Given the description of an element on the screen output the (x, y) to click on. 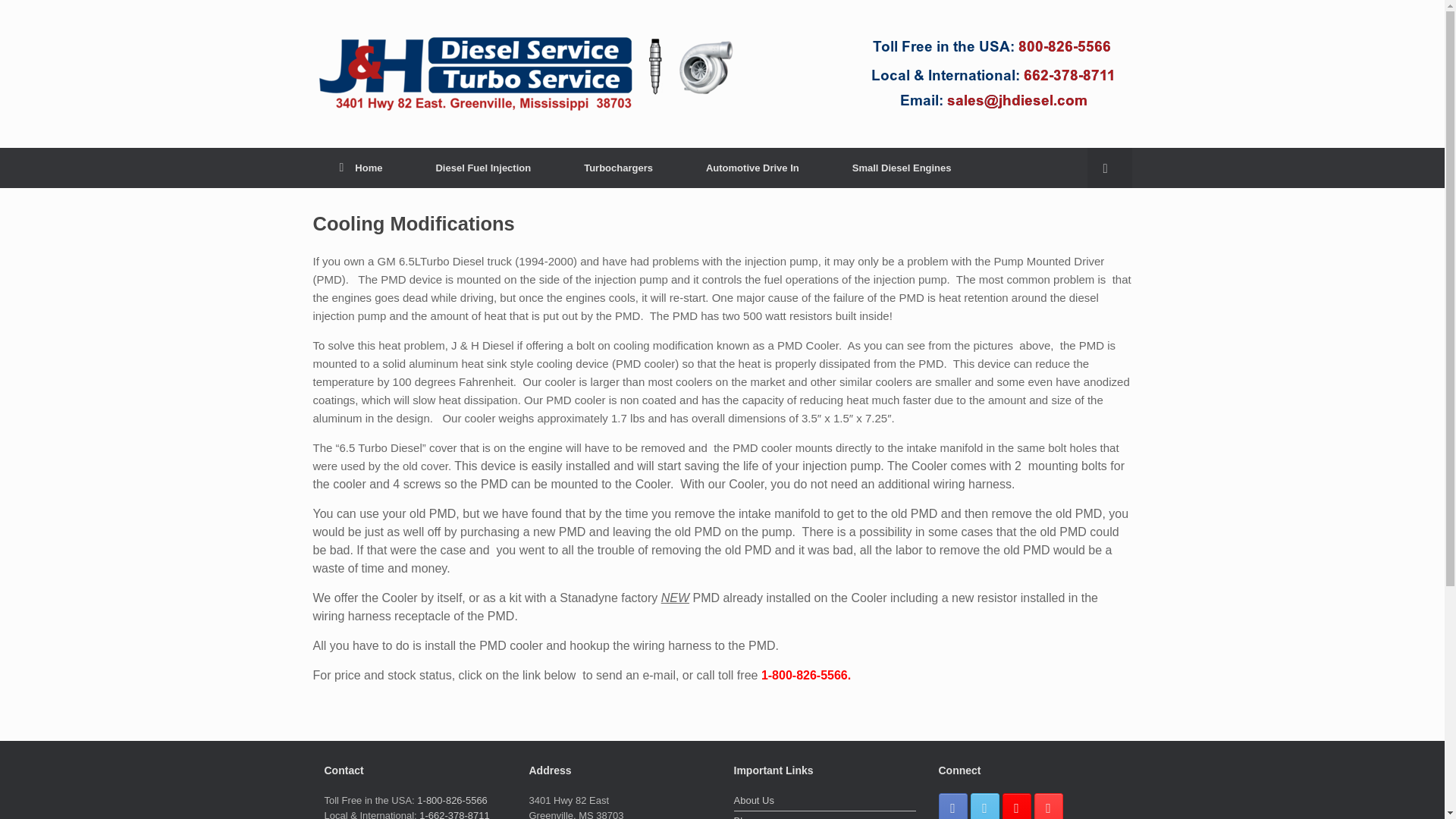
Blog (824, 816)
Automotive Drive In (752, 168)
Small Diesel Engines (901, 168)
1-800-826-5566 (451, 799)
1-662-378-8711 (454, 814)
Home (361, 168)
Turbochargers (618, 168)
About Us (824, 802)
Diesel Fuel Injection (483, 168)
